Given the description of an element on the screen output the (x, y) to click on. 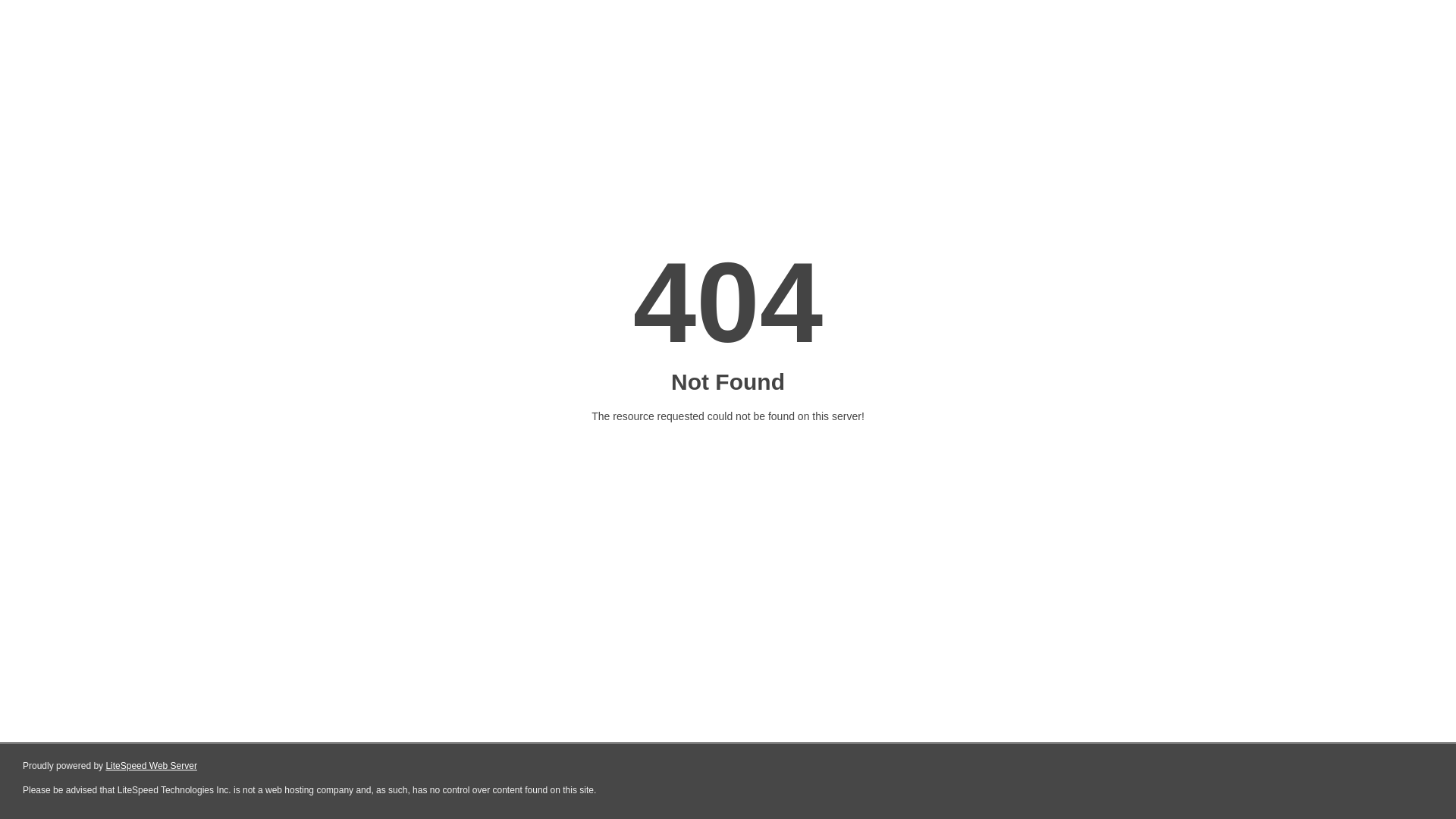
LiteSpeed Web Server Element type: text (151, 765)
